Given the description of an element on the screen output the (x, y) to click on. 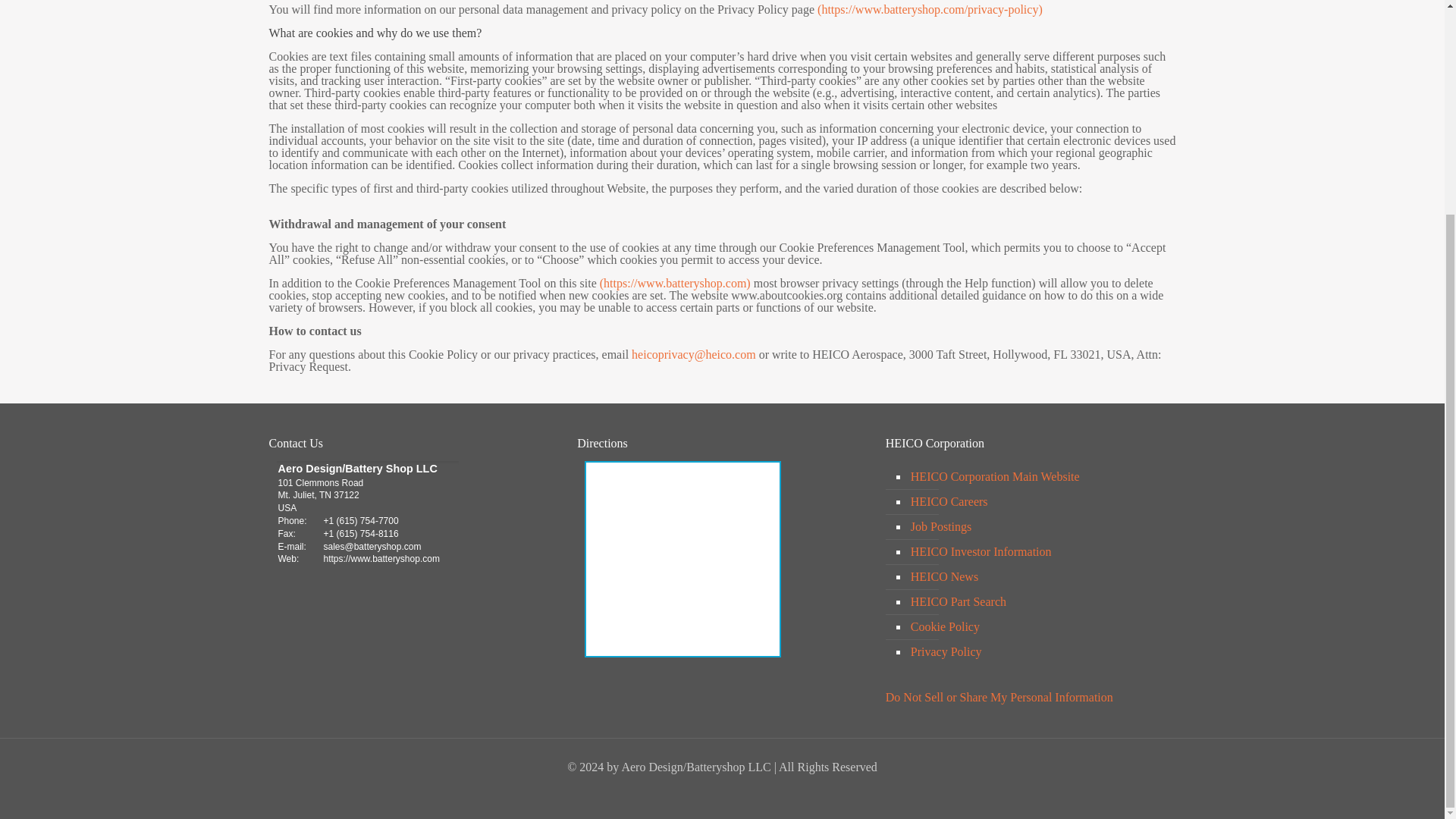
HEICO Corporation Investor Information (1038, 552)
HEICO Corporation IPC Part Search (1038, 602)
HEICO Corporation Main Website (1038, 477)
HEICO News (1038, 577)
HEICO Careers (1038, 502)
Do Not Sell or Share My Personal Information (999, 697)
HEICO Privacy Policy (929, 9)
Cookie Policy (1038, 627)
Job Postings (1038, 527)
HEICO Part Search (1038, 602)
